Given the description of an element on the screen output the (x, y) to click on. 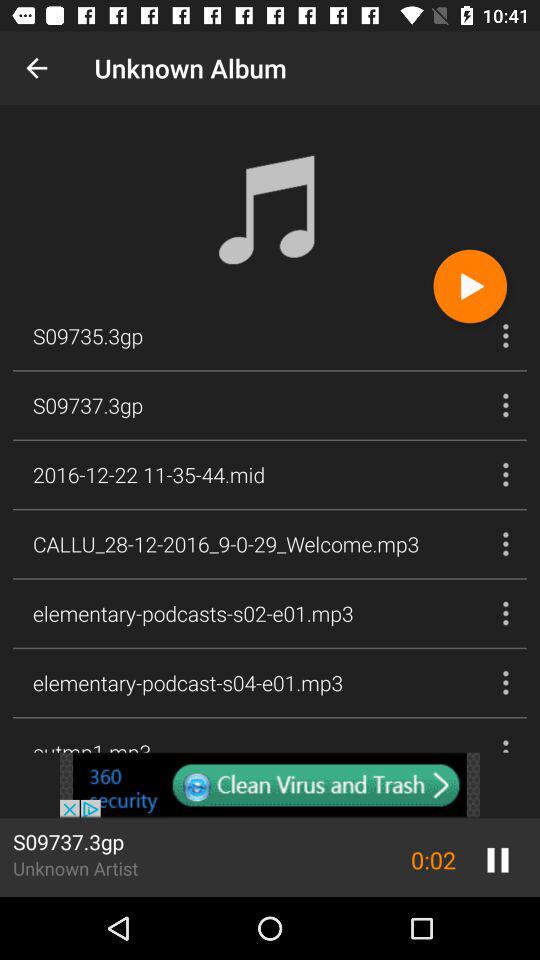
play audio (470, 286)
